Given the description of an element on the screen output the (x, y) to click on. 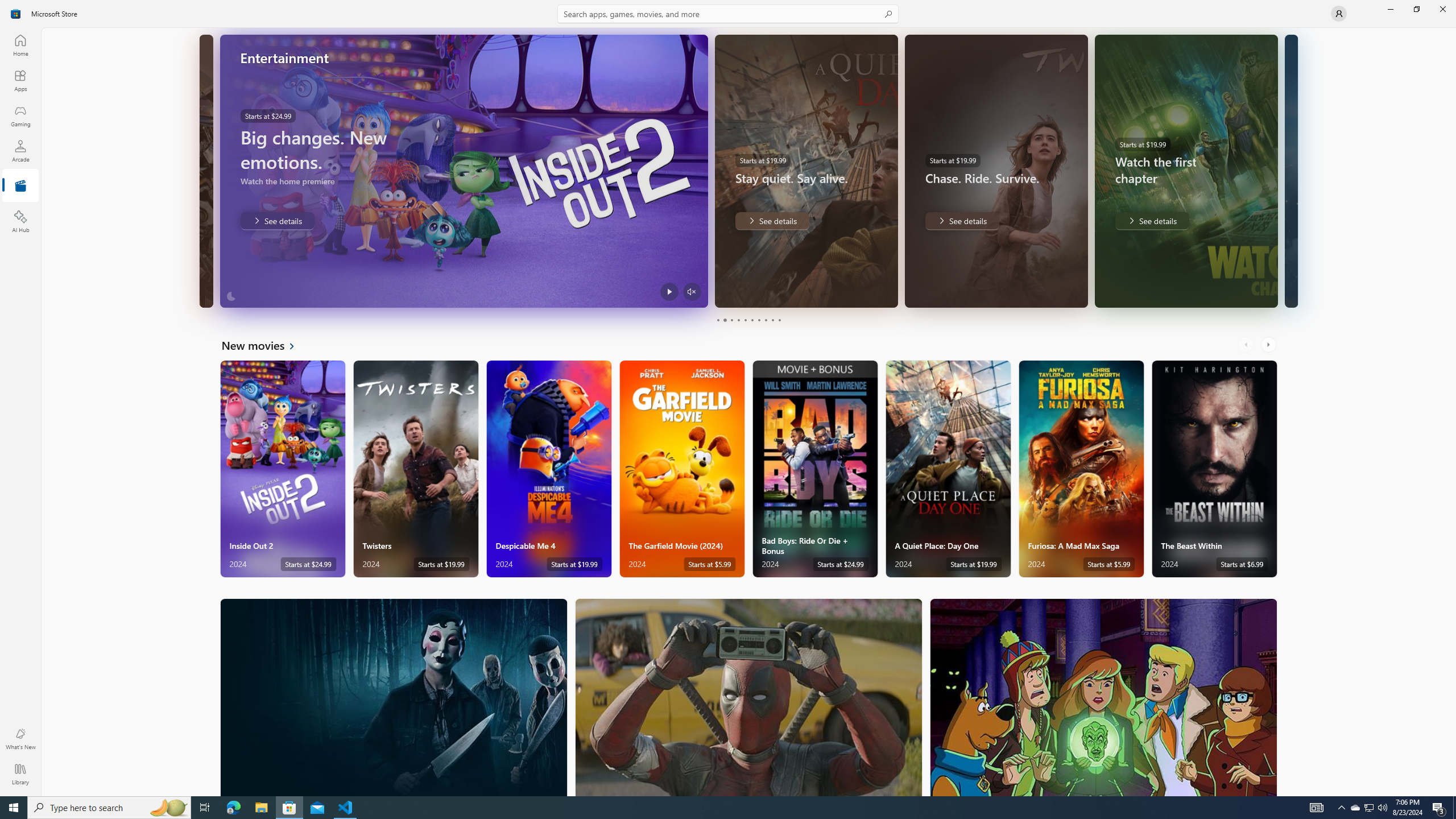
Search (727, 13)
What's New (20, 738)
Play Trailer (668, 291)
AutomationID: Image (1290, 170)
Page 8 (764, 319)
Action & Adventure (749, 697)
Page 6 (751, 319)
Pager (748, 319)
Bad Boys: Ride Or Die + Bonus. Starts at $24.99   (814, 469)
Entertainment (20, 185)
